Given the description of an element on the screen output the (x, y) to click on. 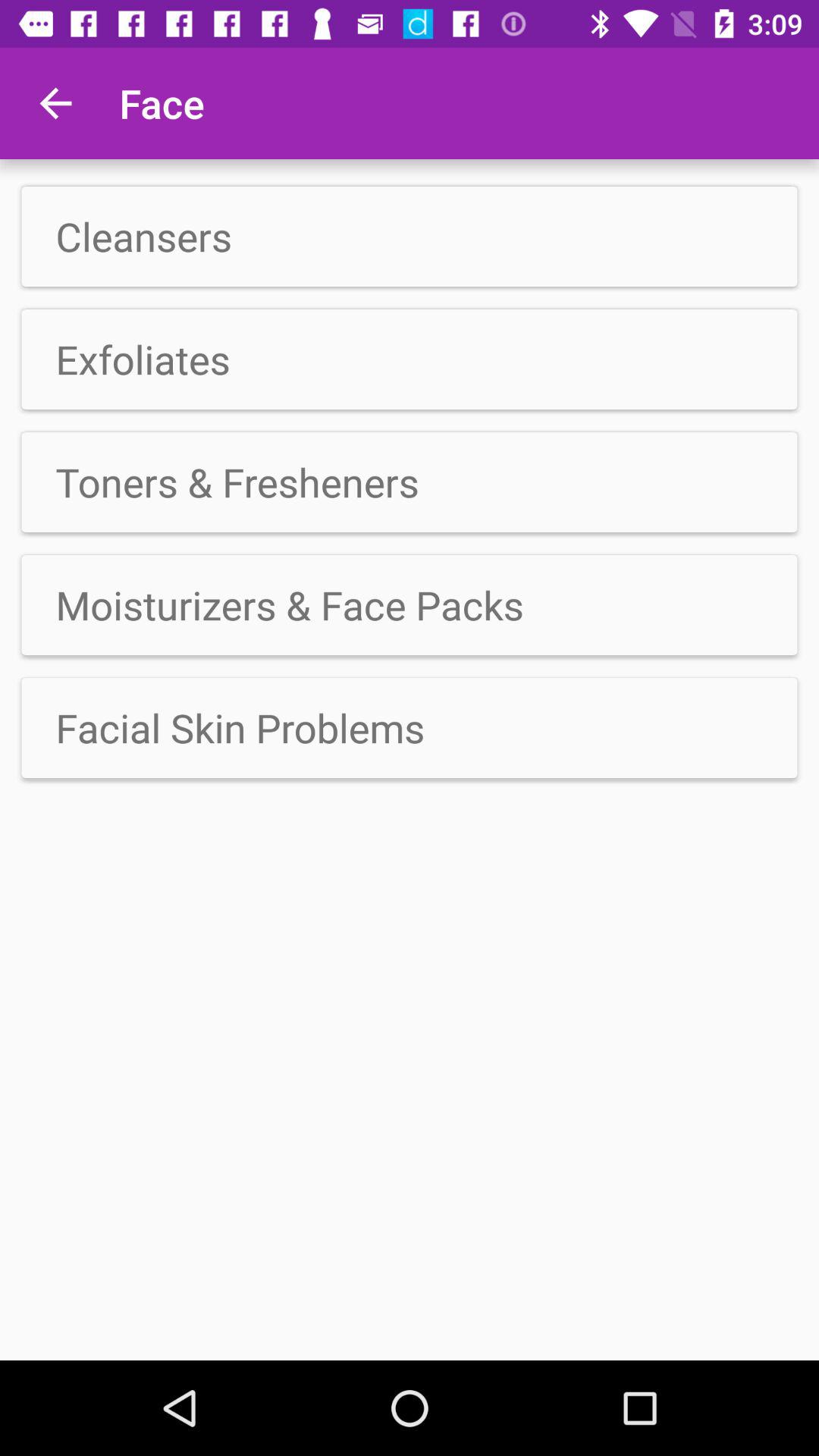
turn on the app above the cleansers app (55, 103)
